Given the description of an element on the screen output the (x, y) to click on. 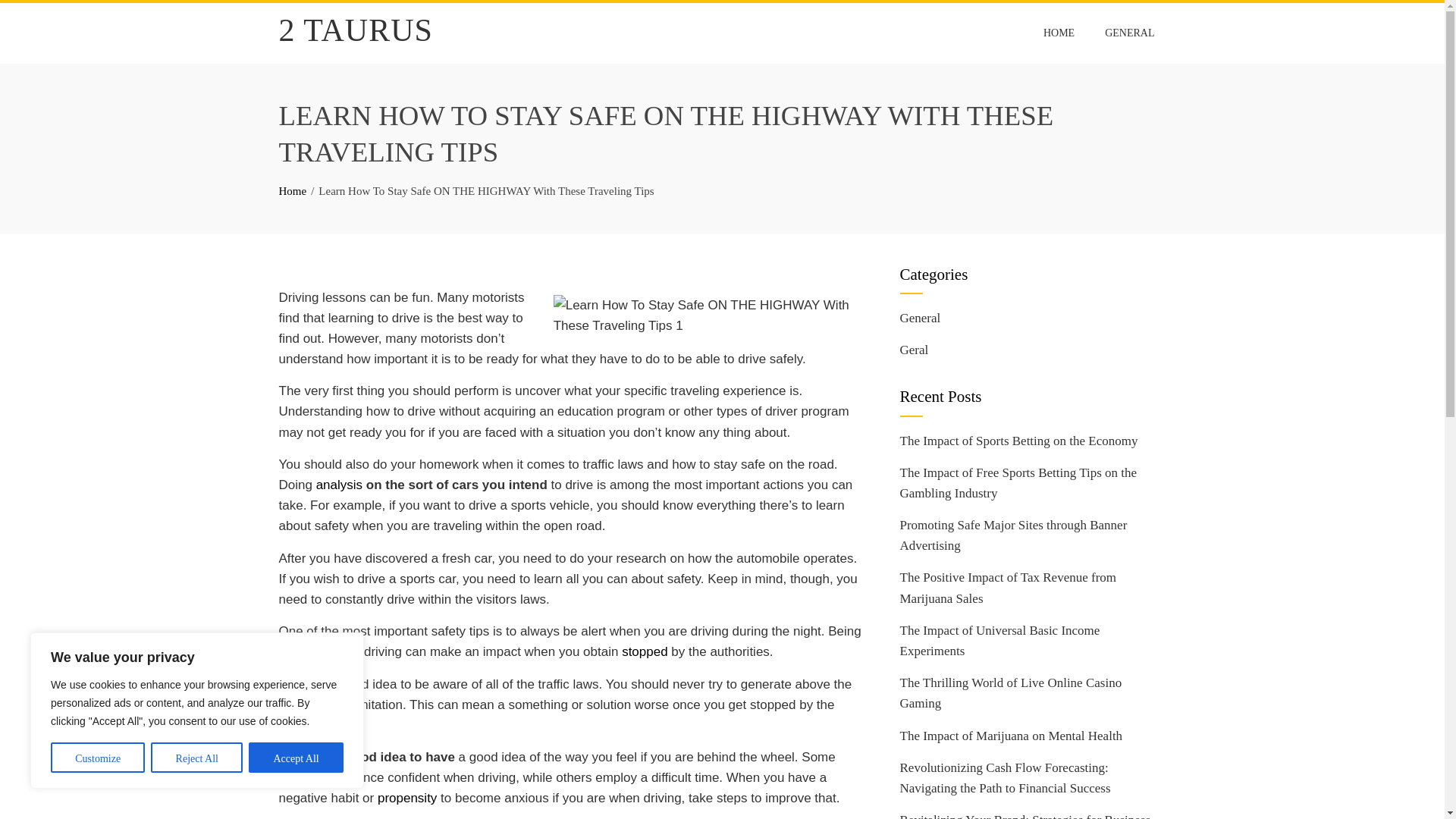
GENERAL (1129, 32)
Accept All (295, 757)
The Impact of Sports Betting on the Economy (1018, 440)
General (919, 318)
HOME (1059, 32)
The Impact of Marijuana on Mental Health (1010, 735)
The Positive Impact of Tax Revenue from Marijuana Sales (1007, 587)
Promoting Safe Major Sites through Banner Advertising (1012, 534)
Customize (97, 757)
propensity (406, 798)
Home (293, 191)
stopped (644, 651)
The Thrilling World of Live Online Casino Gaming (1010, 692)
Revitalizing Your Brand: Strategies for Business Rebranding (1024, 816)
Reject All (197, 757)
